Given the description of an element on the screen output the (x, y) to click on. 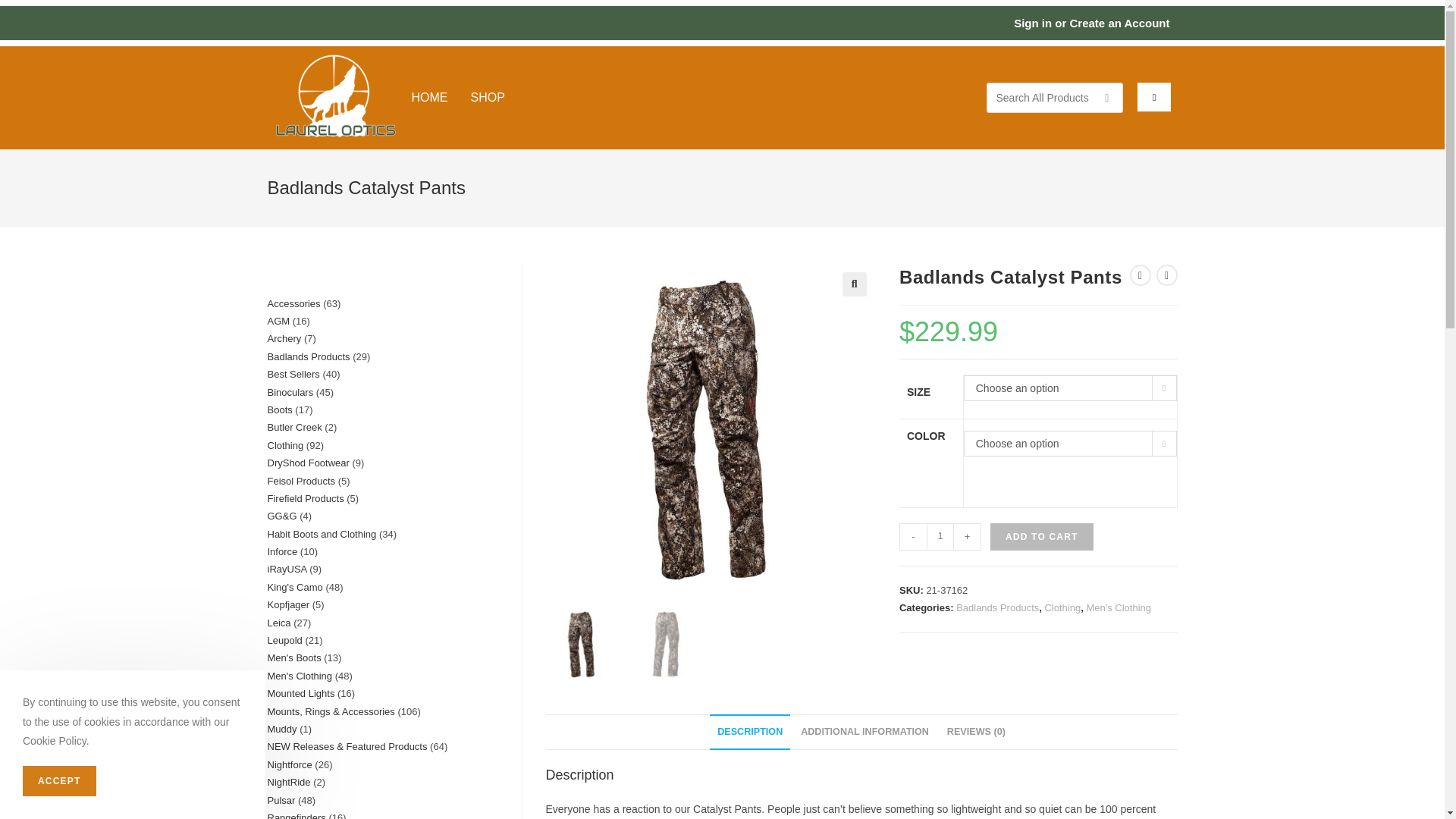
Men's Clothing (1118, 607)
Badlands Catalyst Pants (1038, 428)
Badlands Products (997, 607)
HOME (428, 97)
ADD TO CART (1041, 536)
1 (939, 536)
Sign in or Create an Account (1091, 22)
Badlands Catalyst Pants (710, 428)
- (912, 536)
Clothing (1061, 607)
SHOP (486, 97)
